Given the description of an element on the screen output the (x, y) to click on. 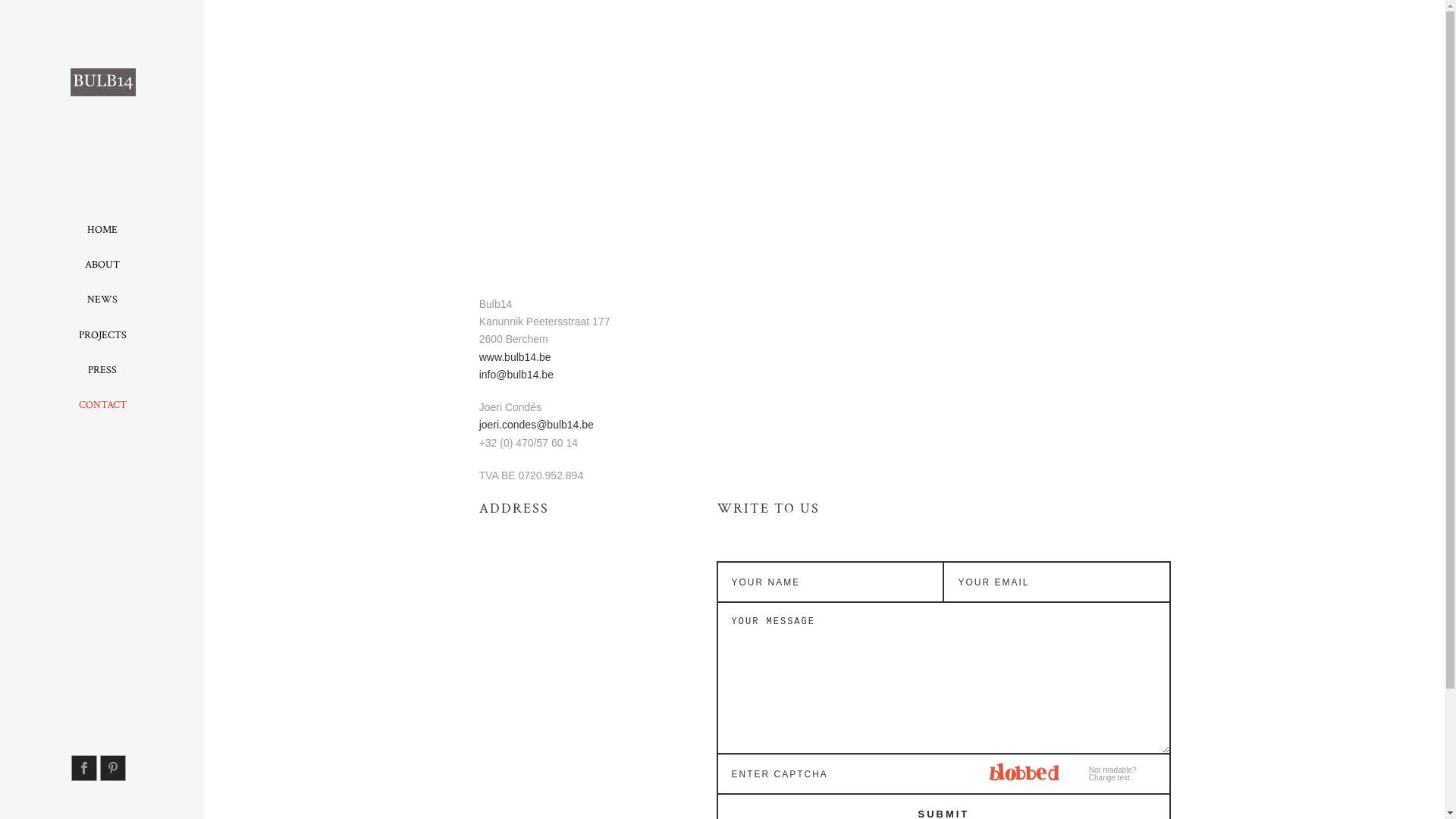
facebook Element type: hover (84, 768)
www.bulb14.be Element type: text (515, 357)
ABOUT Element type: text (102, 264)
PRESS Element type: text (102, 369)
Not readable?
Change text. Element type: text (1112, 773)
joeri.condes@bulb14.be Element type: text (536, 424)
Bulb14 Element type: hover (102, 105)
NEWS Element type: text (102, 299)
CONTACT Element type: text (102, 404)
pinterest Element type: hover (112, 768)
HOME Element type: text (102, 229)
info@bulb14.be Element type: text (516, 374)
PROJECTS Element type: text (102, 334)
